Given the description of an element on the screen output the (x, y) to click on. 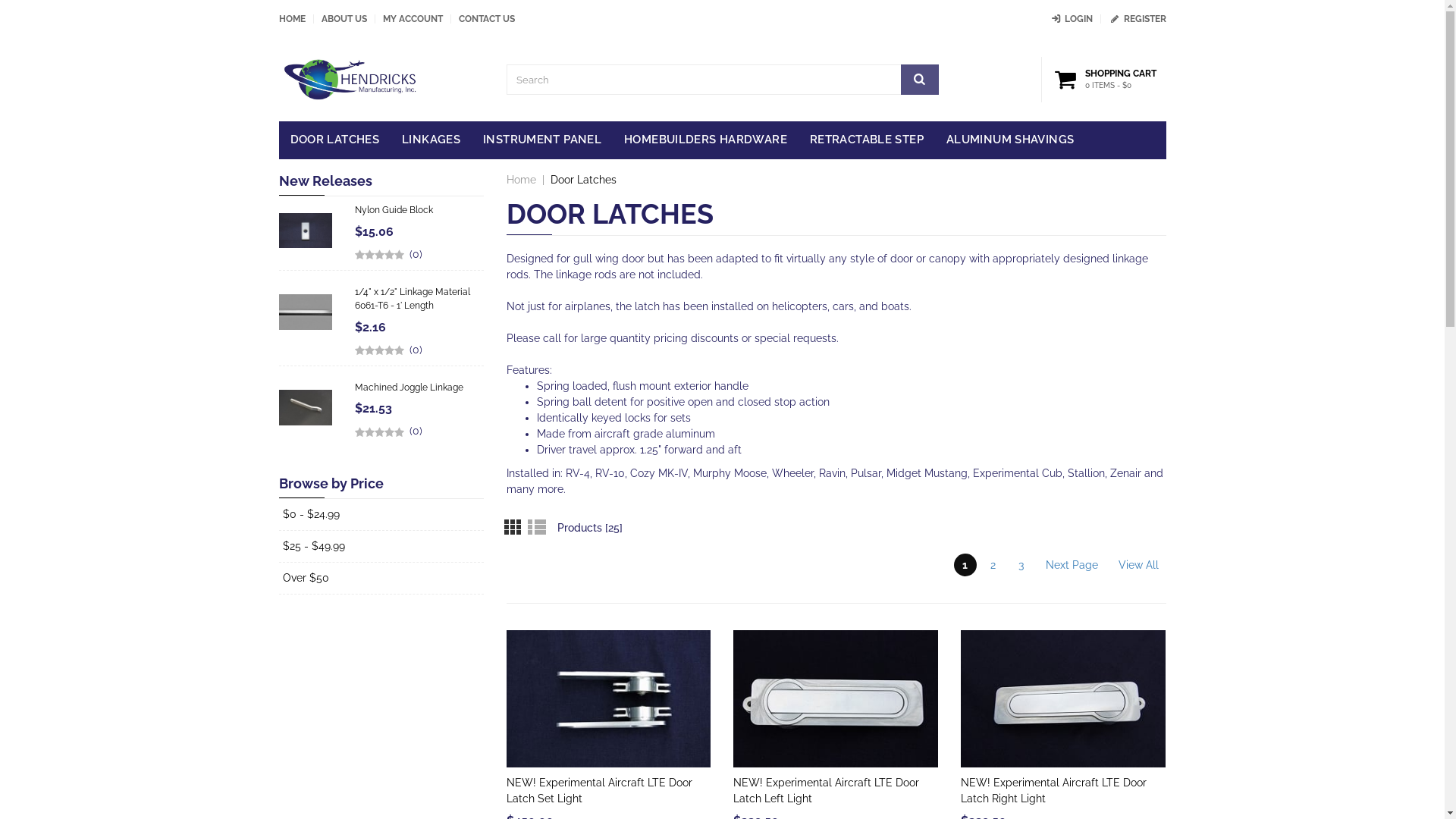
HOME Element type: text (292, 18)
NEW! Experimental Aircraft LTE Door Latch Set Light Element type: text (599, 790)
Grid View Element type: hover (515, 526)
Home Element type: text (521, 179)
ALUMINUM SHAVINGS Element type: text (1010, 140)
LINKAGES Element type: text (430, 140)
List View Element type: hover (534, 526)
$25 - $49.99 Element type: text (313, 545)
$0 - $24.99 Element type: text (310, 514)
ABOUT US Element type: text (344, 18)
Nylon Guide Block Element type: text (393, 209)
Over $50 Element type: text (305, 577)
DOOR LATCHES Element type: text (335, 140)
1/4" x 1/2" Linkage Material 6061-T6 - 1' Length Element type: text (412, 298)
NEW! Experimental Aircraft LTE Door Latch Left Light Element type: text (826, 790)
MY ACCOUNT Element type: text (412, 18)
Machined Joggle Linkage Element type: text (408, 387)
INSTRUMENT PANEL Element type: text (541, 140)
3 Element type: text (1021, 564)
SHOPPING CART
0 ITEMS - $0 Element type: text (1107, 79)
REGISTER Element type: text (1137, 18)
LOGIN Element type: text (1070, 18)
NEW! Experimental Aircraft LTE Door Latch Right Light Element type: text (1053, 790)
View All Element type: text (1137, 564)
CONTACT US Element type: text (486, 18)
HOMEBUILDERS HARDWARE Element type: text (705, 140)
Door Latches Element type: text (583, 179)
Next Page Element type: text (1070, 564)
2 Element type: text (992, 564)
RETRACTABLE STEP Element type: text (866, 140)
